Given the description of an element on the screen output the (x, y) to click on. 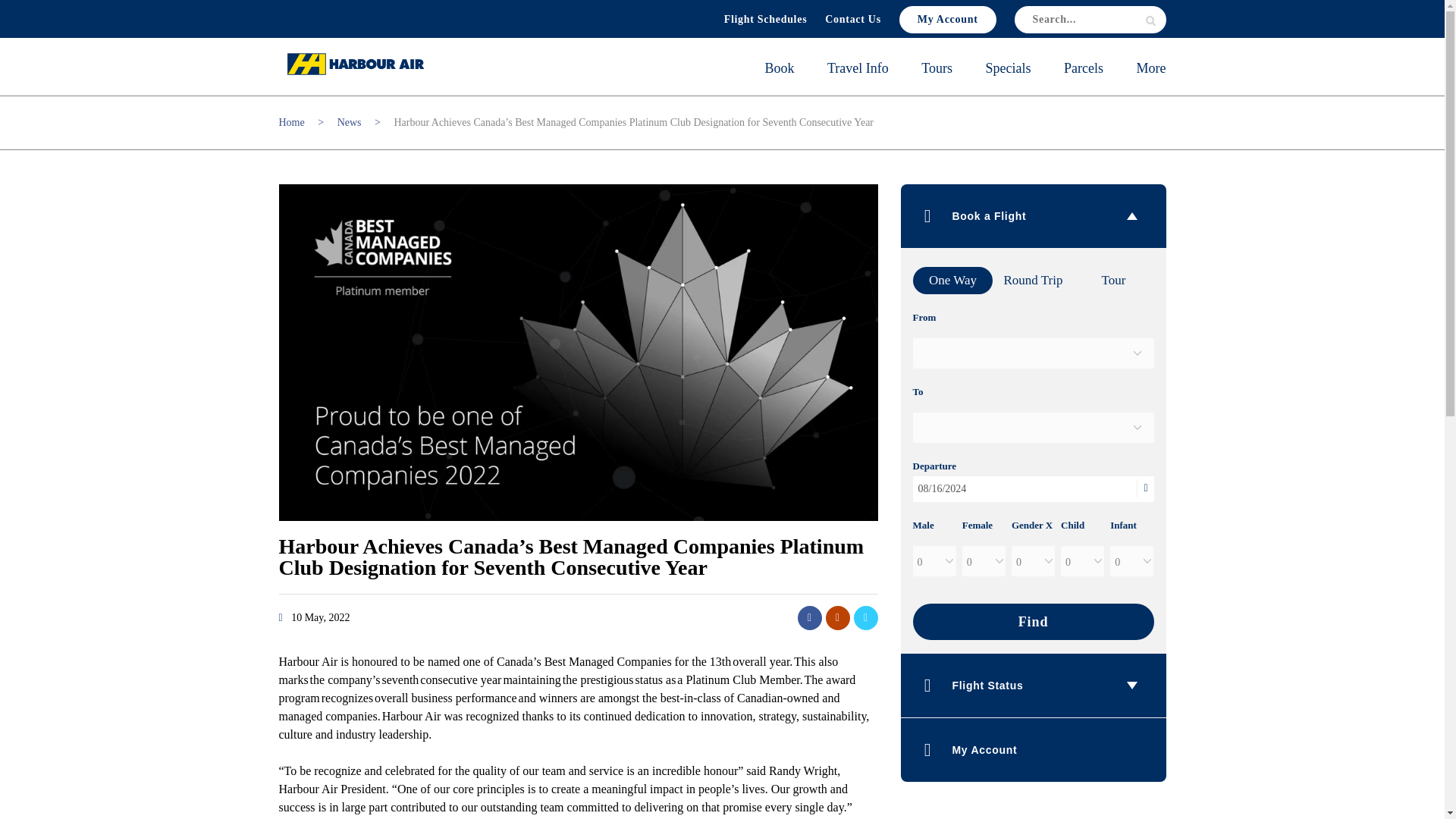
Search for: (1090, 19)
Share on Facebook (809, 617)
Harbour Air Seaplanes (354, 63)
Google Plus (836, 617)
Share on Twitter (865, 617)
